Given the description of an element on the screen output the (x, y) to click on. 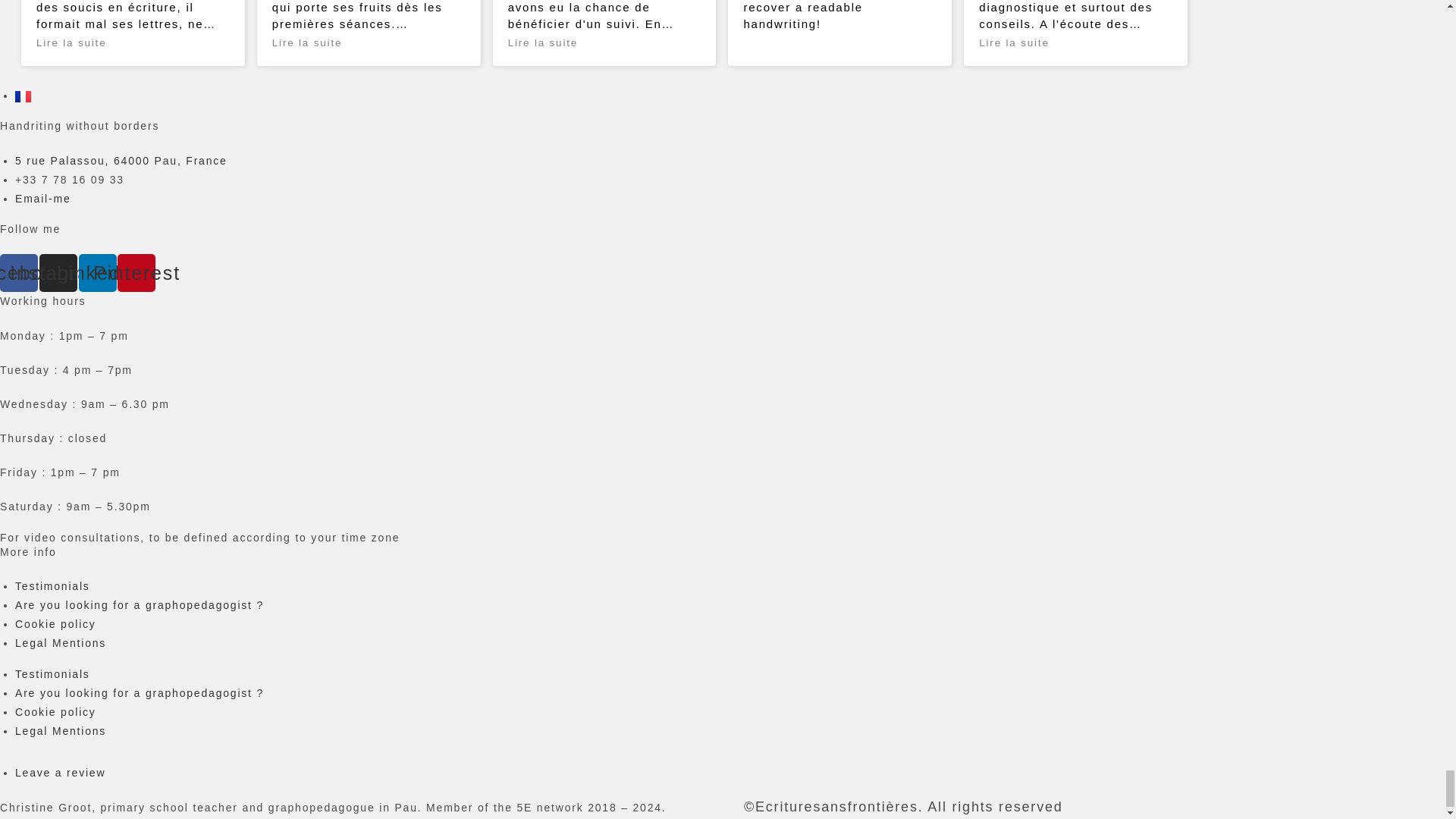
5 rue Palassou, 64000 Pau, France (120, 160)
